Given the description of an element on the screen output the (x, y) to click on. 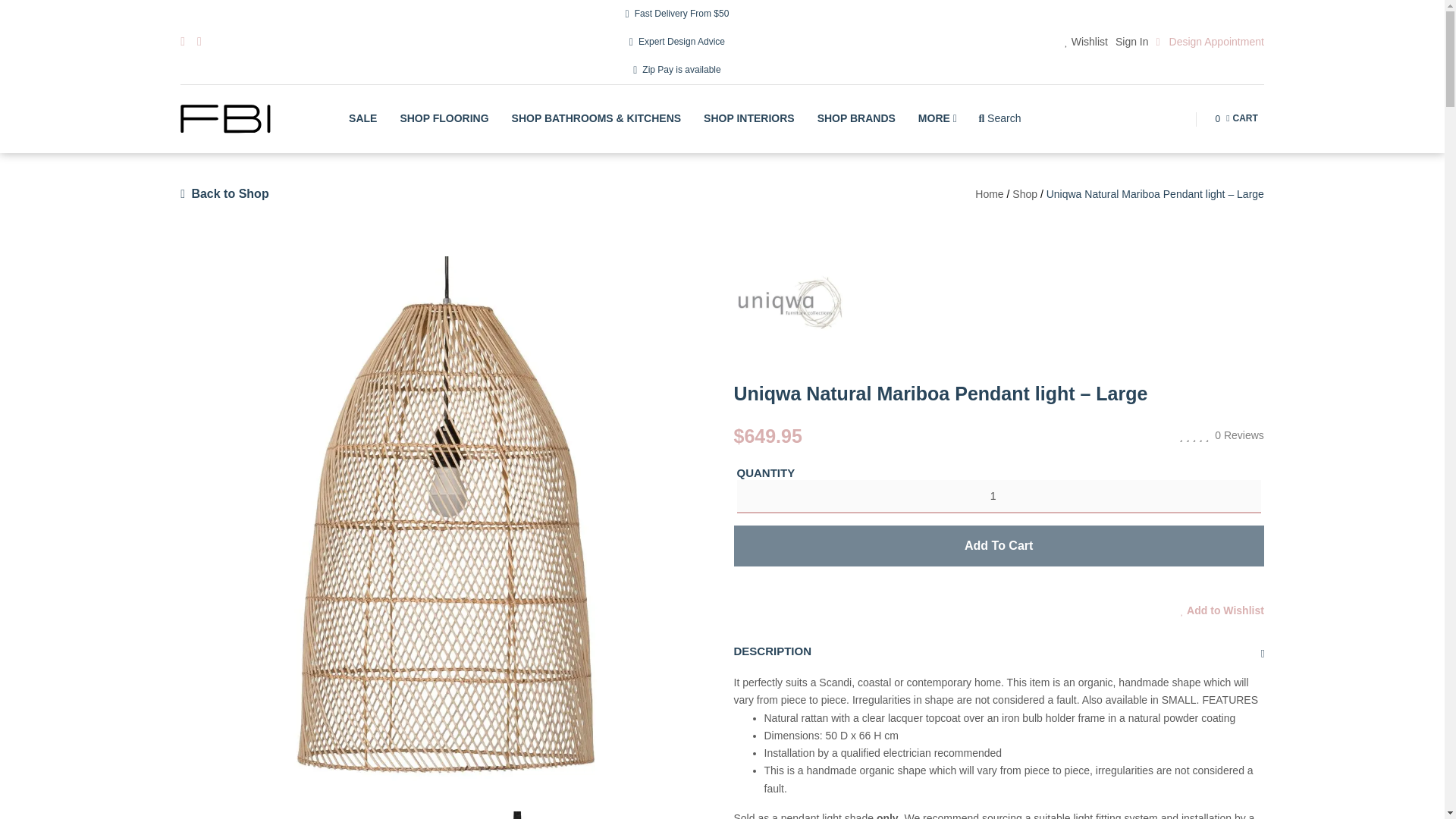
Design Appointment (1209, 41)
Wishlist (1086, 41)
1 (1235, 119)
Flooring Bathrooms Interiors (998, 496)
SHOP FLOORING (225, 119)
Sign In (444, 118)
SALE (1131, 41)
Zip Pay is available (362, 118)
Expert Design Advice (677, 70)
